Given the description of an element on the screen output the (x, y) to click on. 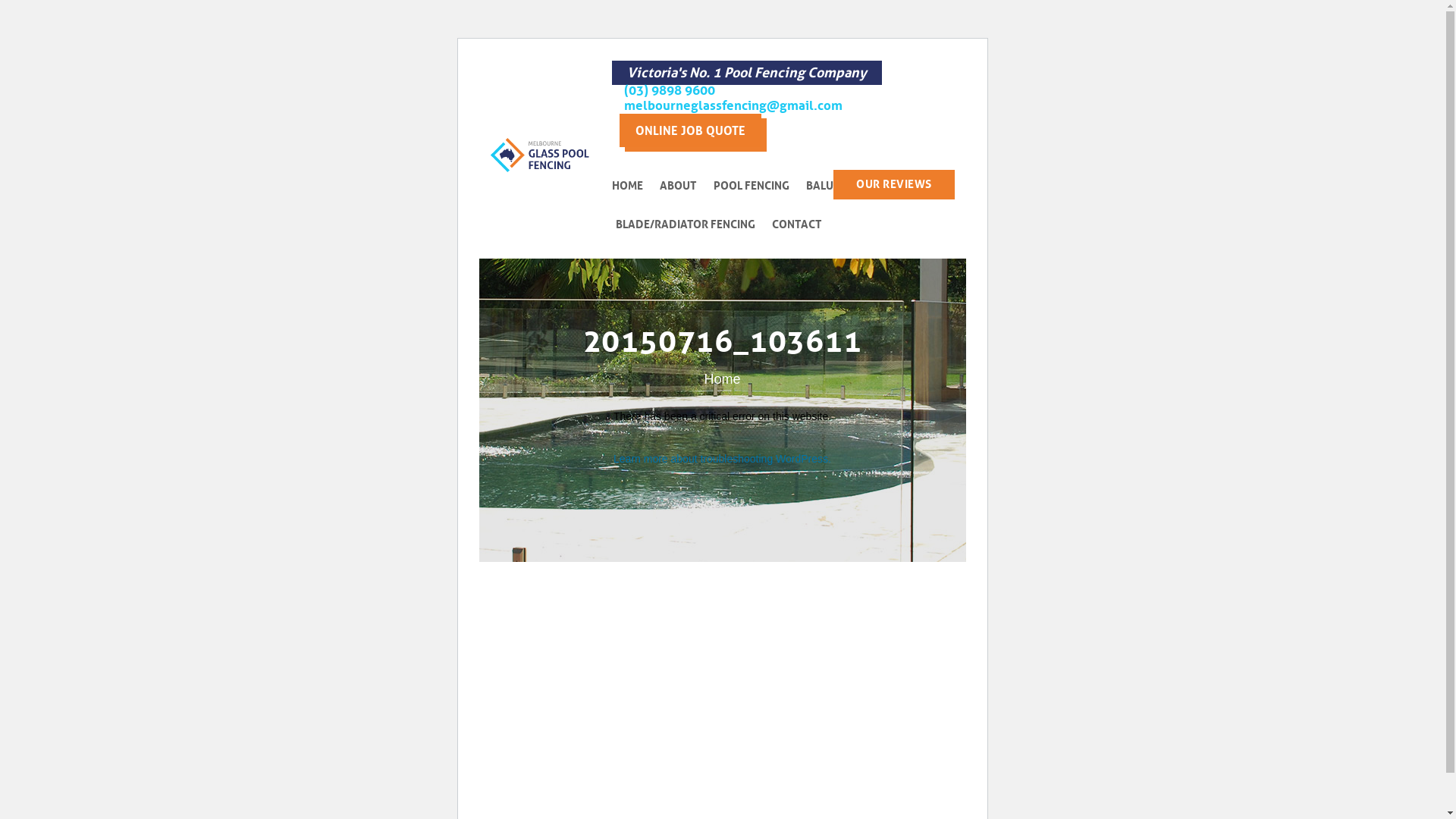
Home Element type: text (721, 378)
BLADE/RADIATOR FENCING Element type: text (691, 224)
Pool Fencing Melbourne Element type: hover (539, 155)
HOME Element type: text (633, 185)
CONTACT Element type: text (802, 224)
ABOUT Element type: text (684, 185)
Learn more about troubleshooting WordPress. Element type: text (722, 458)
(03) 9898 9600 Element type: text (733, 90)
BALUSTRADE Element type: text (847, 185)
ONLINE JOB QUOTE Element type: text (690, 130)
melbourneglassfencing@gmail.com Element type: text (733, 105)
OUR REVIEWS Element type: text (893, 184)
POOL FENCING Element type: text (757, 185)
